Given the description of an element on the screen output the (x, y) to click on. 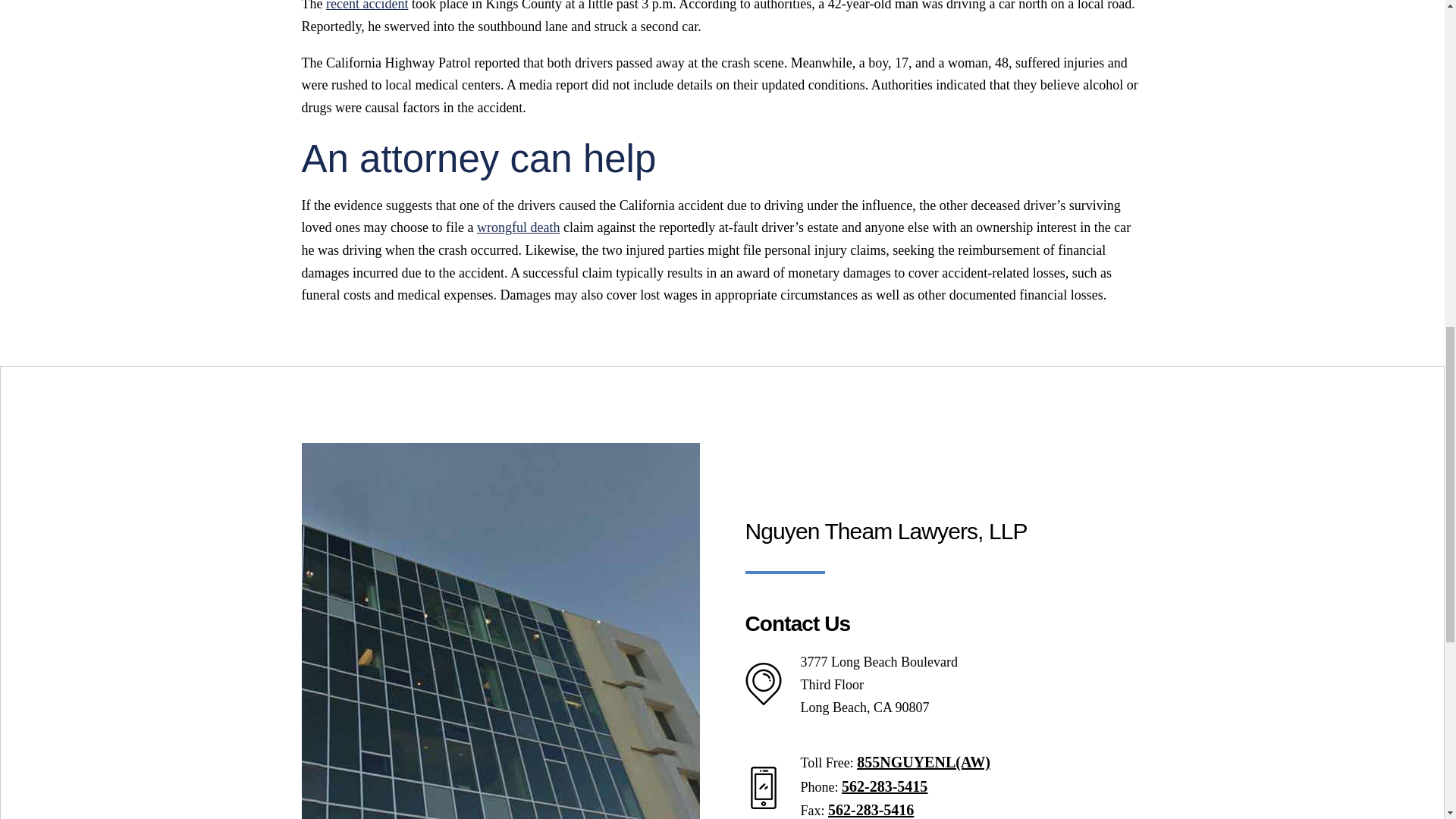
562-283-5416 (871, 809)
562-283-5415 (884, 786)
recent accident (366, 5)
wrongful death (518, 227)
